Given the description of an element on the screen output the (x, y) to click on. 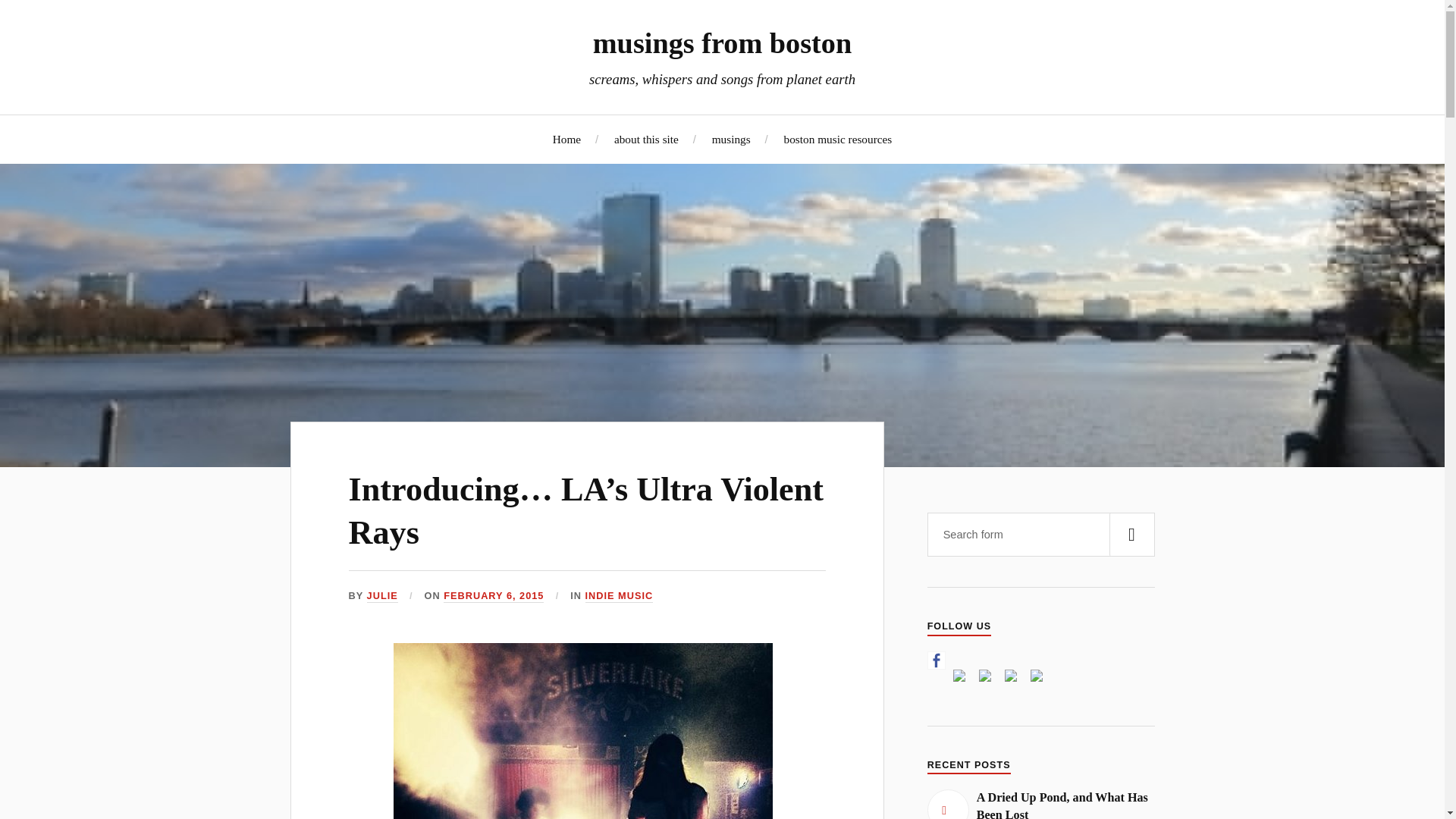
INDIE MUSIC (619, 595)
boston music resources (838, 138)
musings from boston (721, 42)
about this site (646, 138)
FEBRUARY 6, 2015 (493, 595)
Posts by julie (381, 595)
JULIE (381, 595)
